Given the description of an element on the screen output the (x, y) to click on. 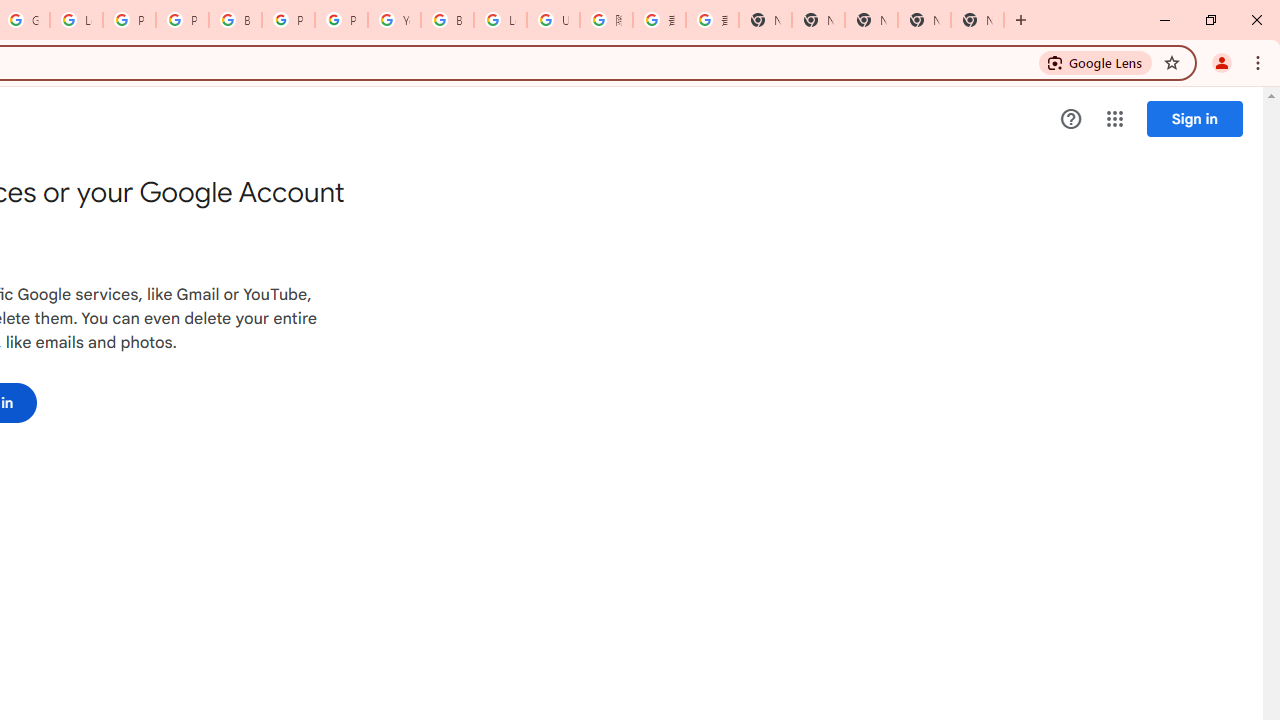
YouTube (394, 20)
Privacy Help Center - Policies Help (182, 20)
New Tab (765, 20)
